Given the description of an element on the screen output the (x, y) to click on. 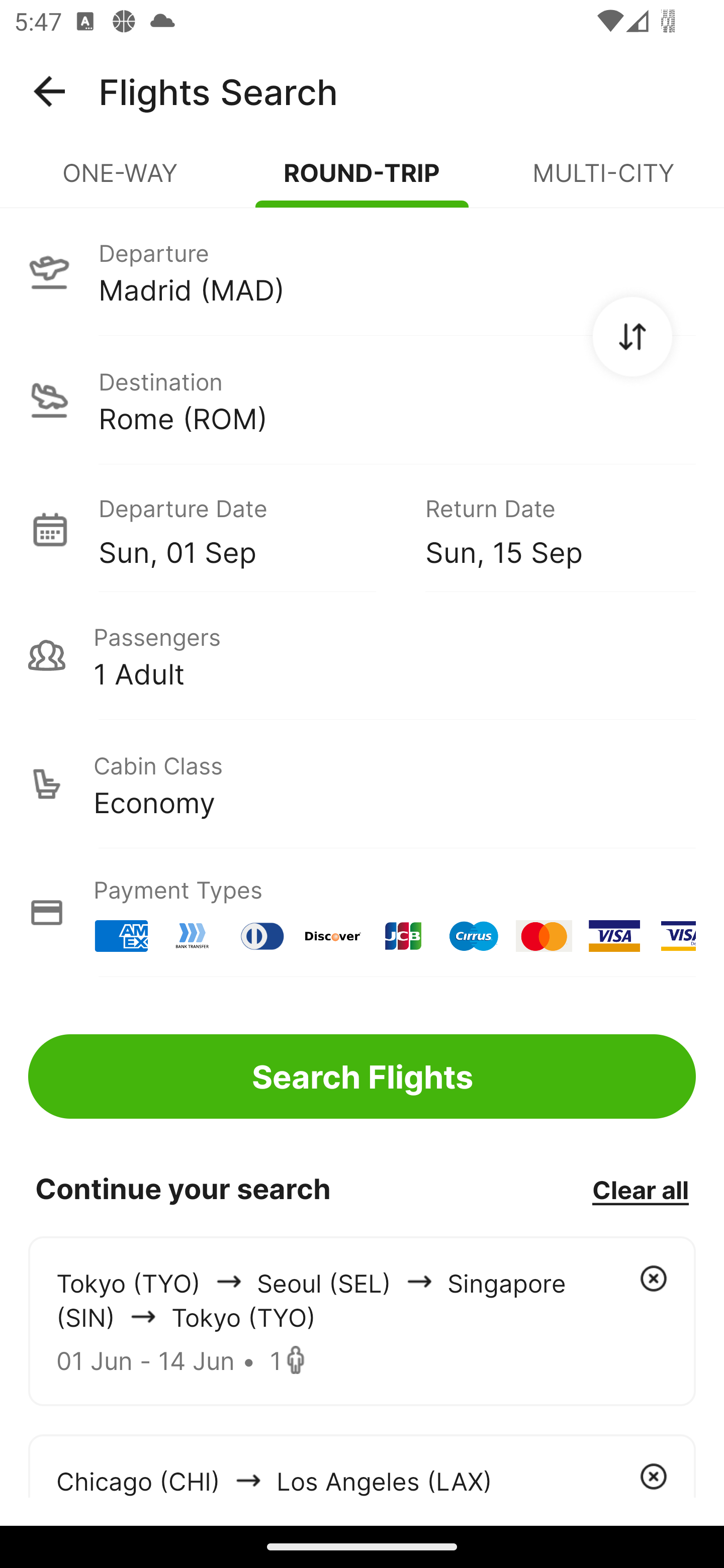
ONE-WAY (120, 180)
ROUND-TRIP (361, 180)
MULTI-CITY (603, 180)
Departure Madrid (MAD) (362, 270)
Destination Rome (ROM) (362, 400)
Departure Date Sun, 01 Sep (247, 528)
Return Date Sun, 15 Sep (546, 528)
Passengers 1 Adult (362, 655)
Cabin Class Economy (362, 783)
Payment Types (362, 912)
Search Flights (361, 1075)
Clear all (640, 1189)
Chicago (CHI)  arrowIcon  Los Angeles (LAX) (361, 1465)
